Given the description of an element on the screen output the (x, y) to click on. 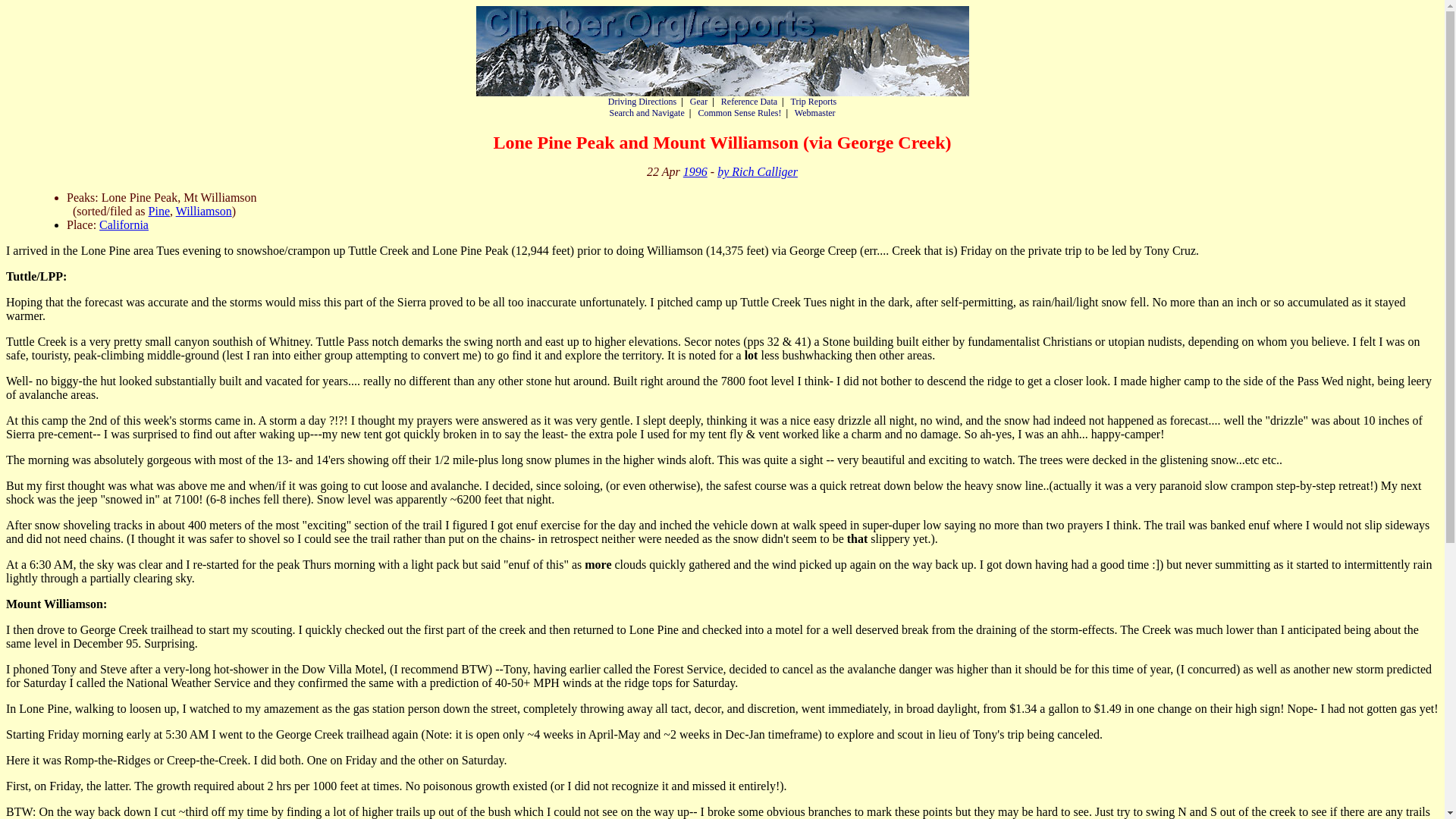
by Rich Calliger (757, 171)
Gear (698, 101)
Williamson (203, 210)
California (123, 224)
Common Sense Rules! (738, 112)
1996 (694, 171)
Reference Data (748, 101)
Climber.Org Home Page (722, 50)
Search and Navigate (646, 112)
Trip Reports (813, 101)
Webmaster (814, 112)
Driving Directions (642, 101)
Pine (159, 210)
